Given the description of an element on the screen output the (x, y) to click on. 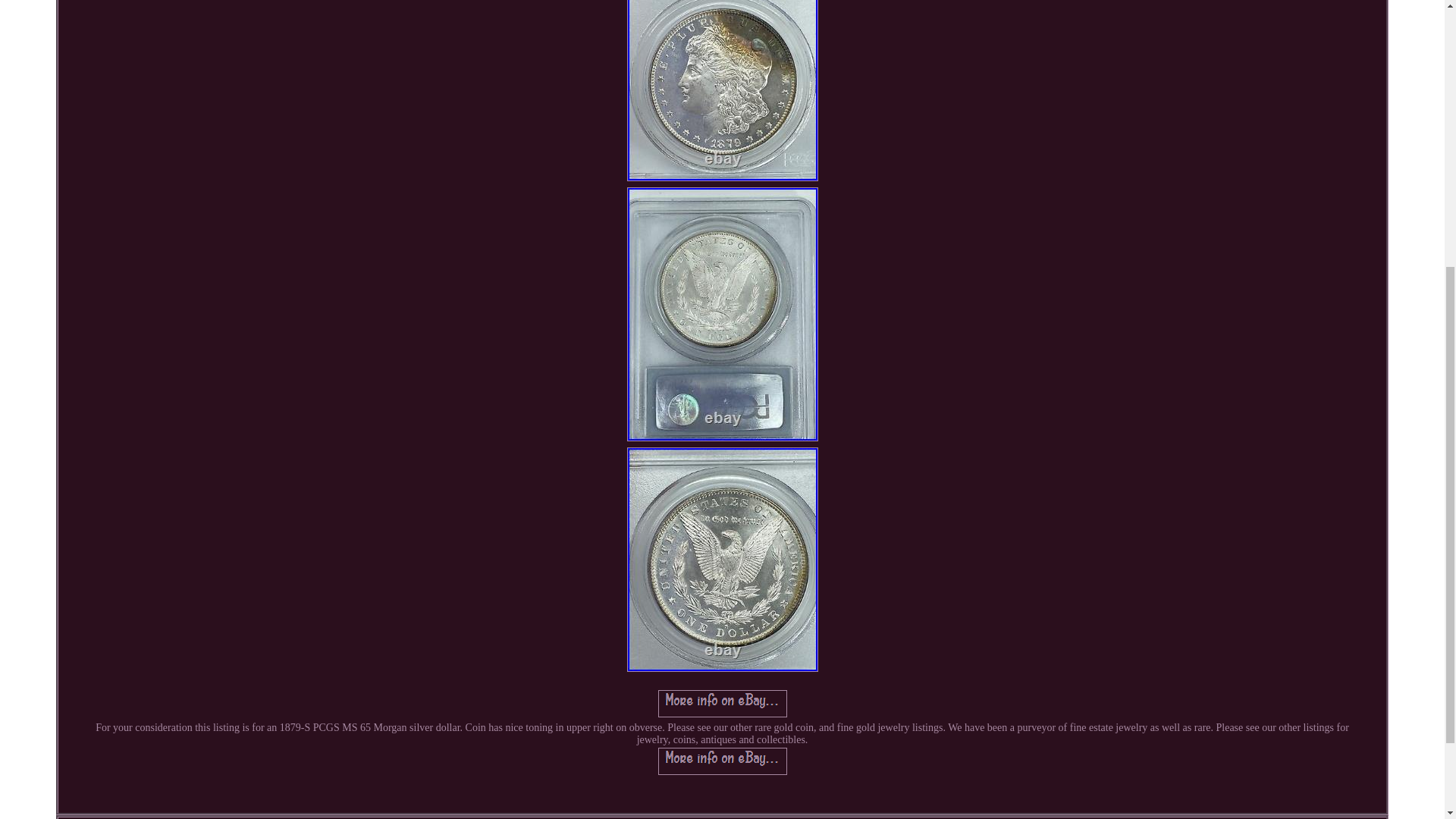
1879-S PCGS MS 65 Morgan Silver Dollar, Gorgeous toning (722, 703)
1879-S PCGS MS 65 Morgan Silver Dollar, Gorgeous toning (722, 760)
1879-S PCGS MS 65 Morgan Silver Dollar, Gorgeous toning (721, 90)
